Given the description of an element on the screen output the (x, y) to click on. 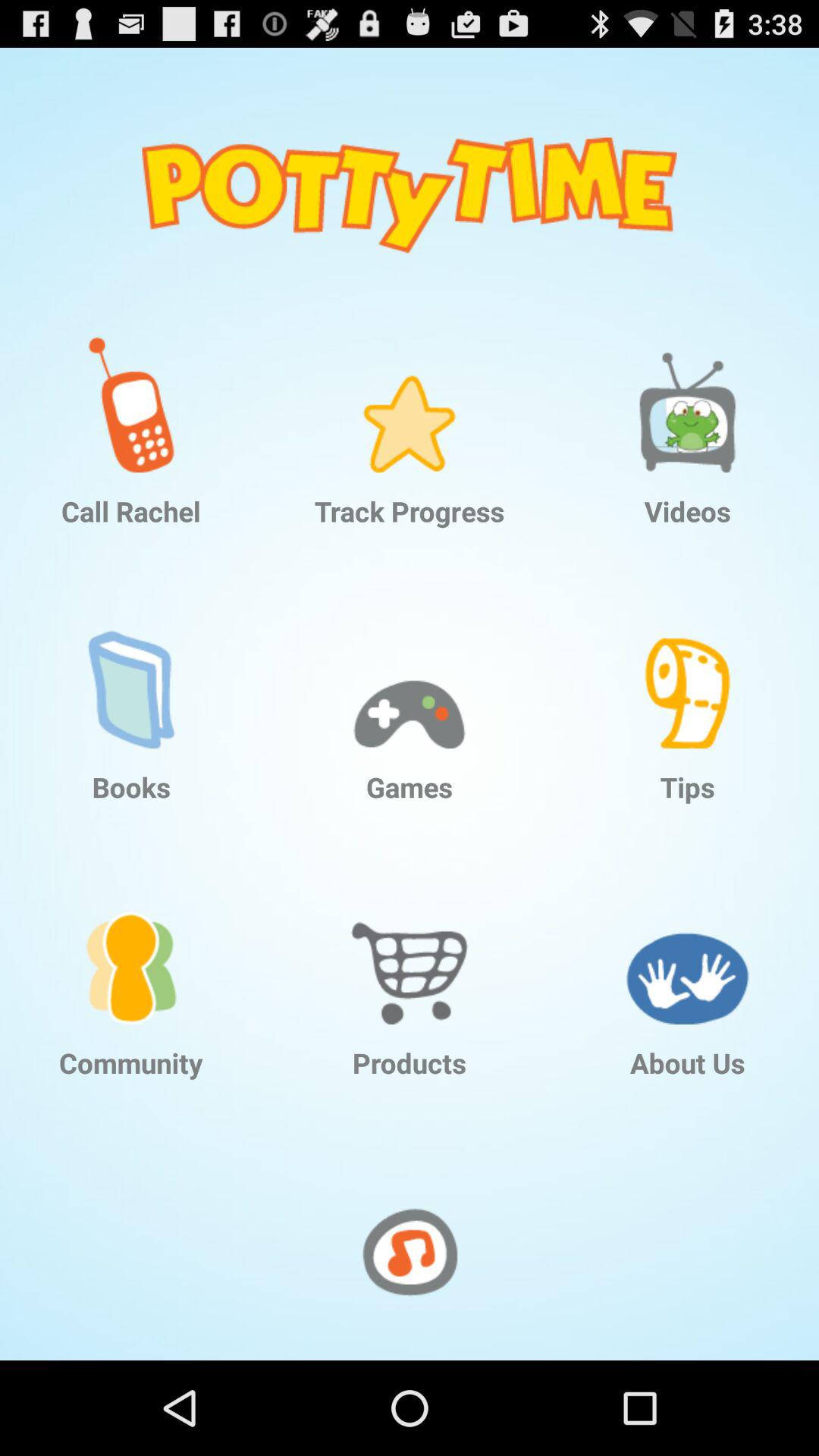
select the app above the call rachel app (131, 392)
